Given the description of an element on the screen output the (x, y) to click on. 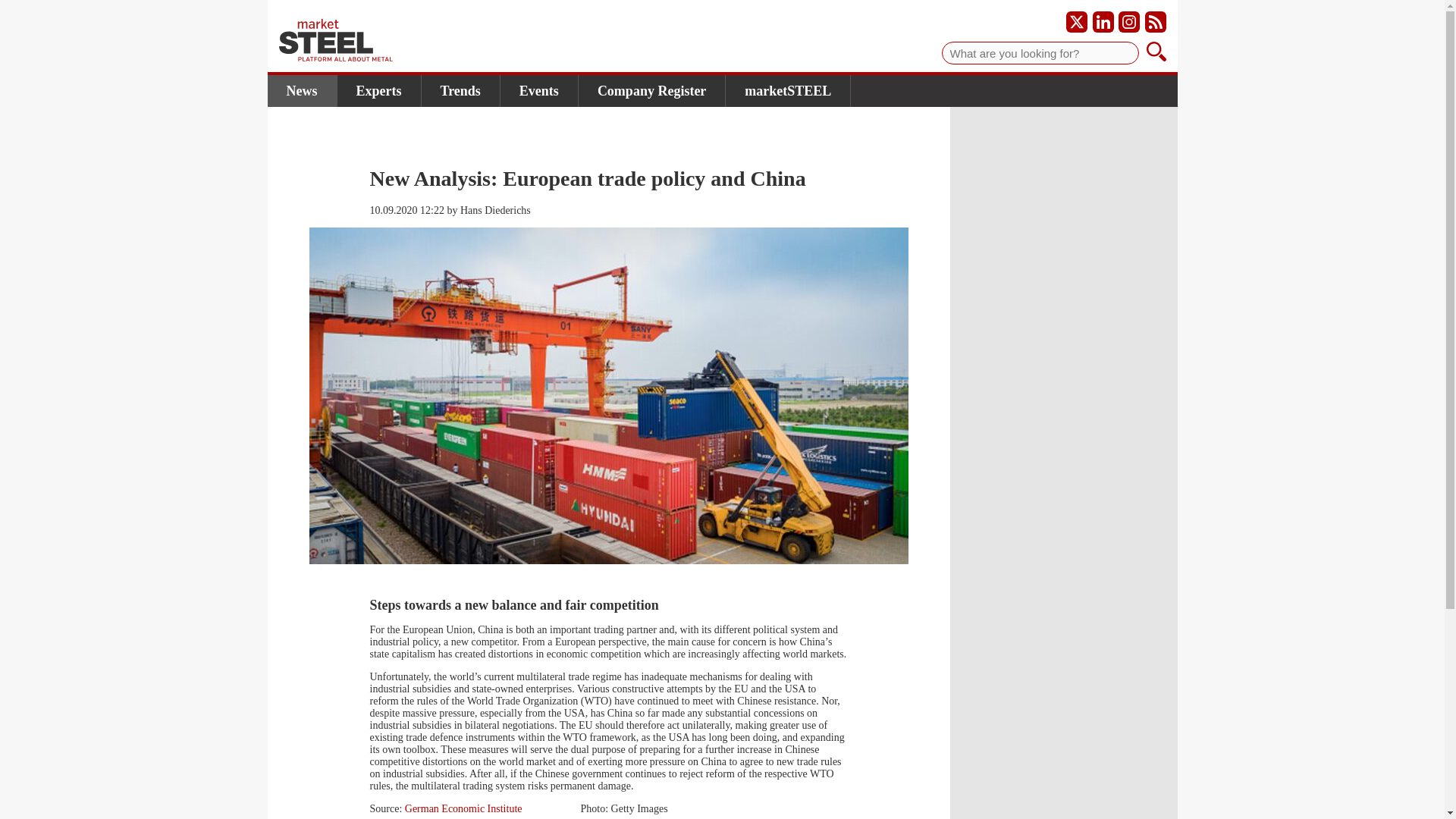
News (301, 91)
Trends (461, 91)
Experts (378, 91)
News (301, 91)
Trends (461, 91)
Experts (378, 91)
